Given the description of an element on the screen output the (x, y) to click on. 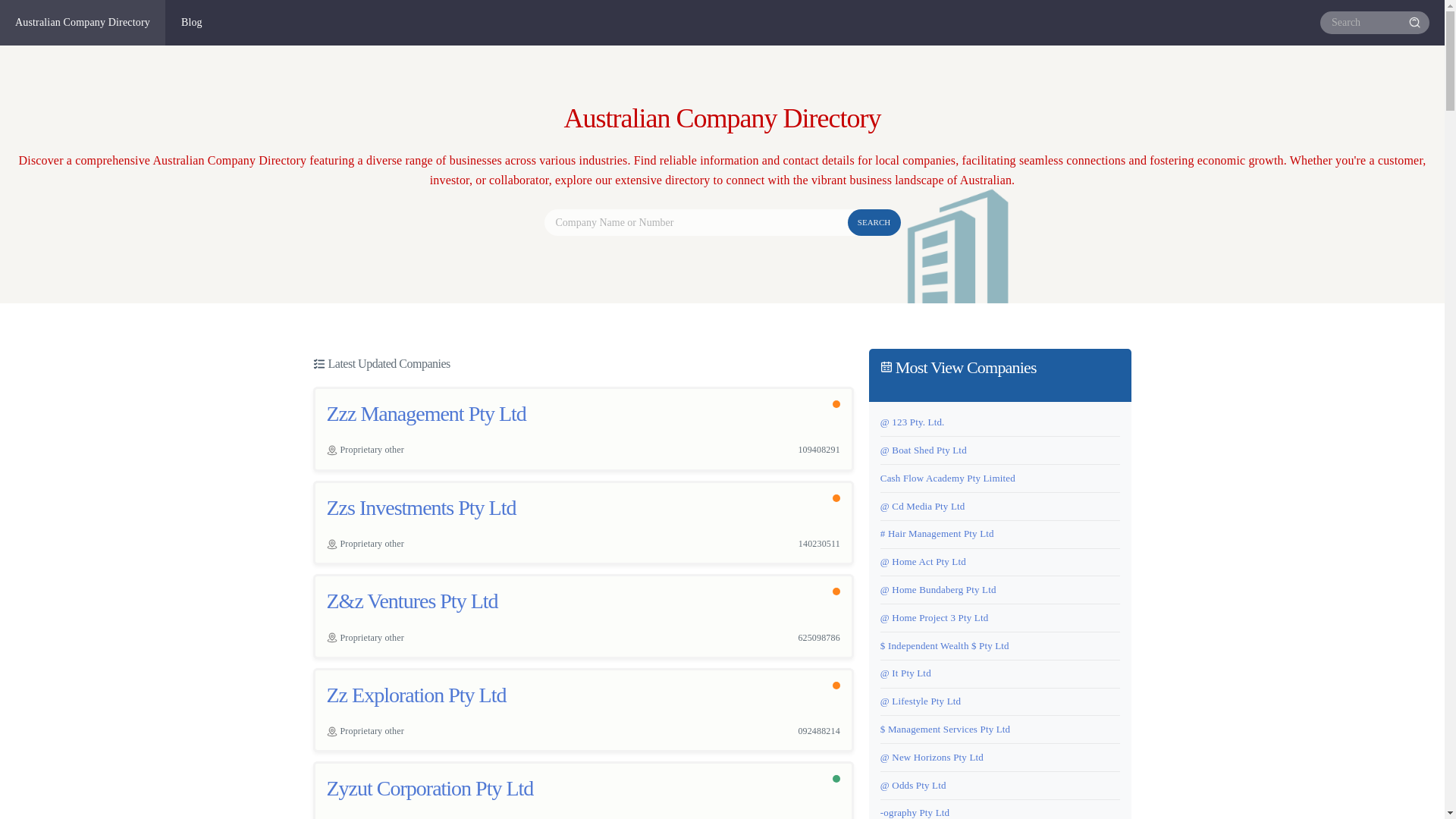
Australian Company Directory Element type: text (83, 22)
SEARCH Element type: text (873, 222)
Cookie Element type: text (1405, 772)
@ Boat Shed Pty Ltd Element type: text (923, 449)
Privacy Element type: text (1359, 772)
Zzs Investments Pty Ltd Element type: text (420, 507)
Z&z Ventures Pty Ltd Element type: text (411, 600)
-ography Pty Ltd Element type: text (914, 812)
Cash Flow Academy Pty Limited Element type: text (947, 477)
$ Independent Wealth $ Pty Ltd Element type: text (944, 645)
@ New Horizons Pty Ltd Element type: text (931, 756)
@ Lifestyle Pty Ltd Element type: text (920, 700)
@ It Pty Ltd Element type: text (905, 672)
# Hair Management Pty Ltd Element type: text (937, 533)
@ Home Act Pty Ltd Element type: text (923, 561)
@ 123 Pty. Ltd. Element type: text (912, 421)
Search Element type: hover (1416, 22)
Zz Exploration Pty Ltd Element type: text (415, 694)
@ Home Bundaberg Pty Ltd Element type: text (938, 589)
@ Cd Media Pty Ltd Element type: text (922, 505)
Zzz Management Pty Ltd Element type: text (425, 413)
Zyzut Corporation Pty Ltd Element type: text (429, 788)
$ Management Services Pty Ltd Element type: text (945, 728)
Blog Element type: text (192, 22)
@ Odds Pty Ltd Element type: text (913, 784)
@ Home Project 3 Pty Ltd Element type: text (934, 617)
